Given the description of an element on the screen output the (x, y) to click on. 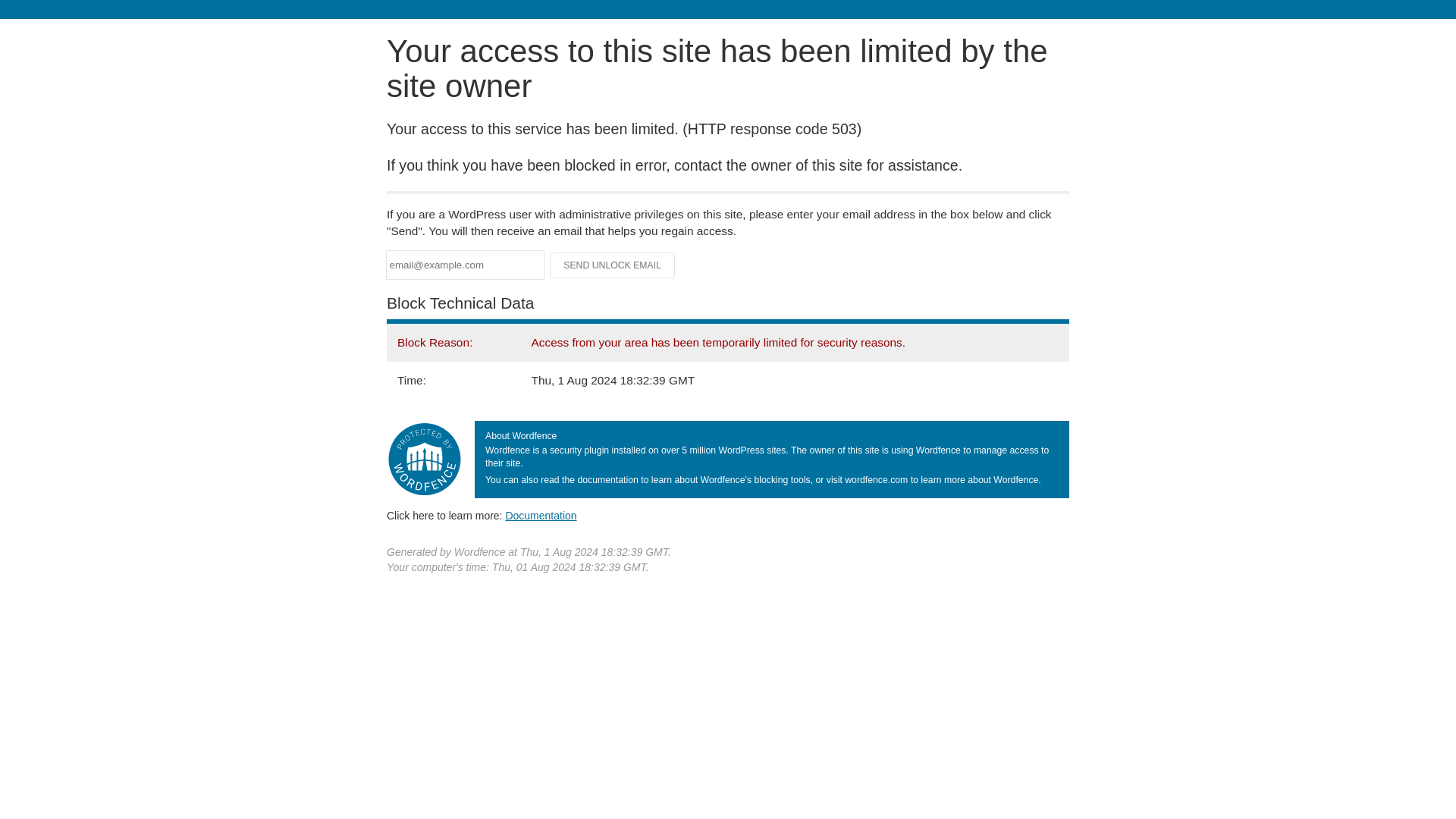
Documentation (540, 515)
Send Unlock Email (612, 265)
Send Unlock Email (612, 265)
